Given the description of an element on the screen output the (x, y) to click on. 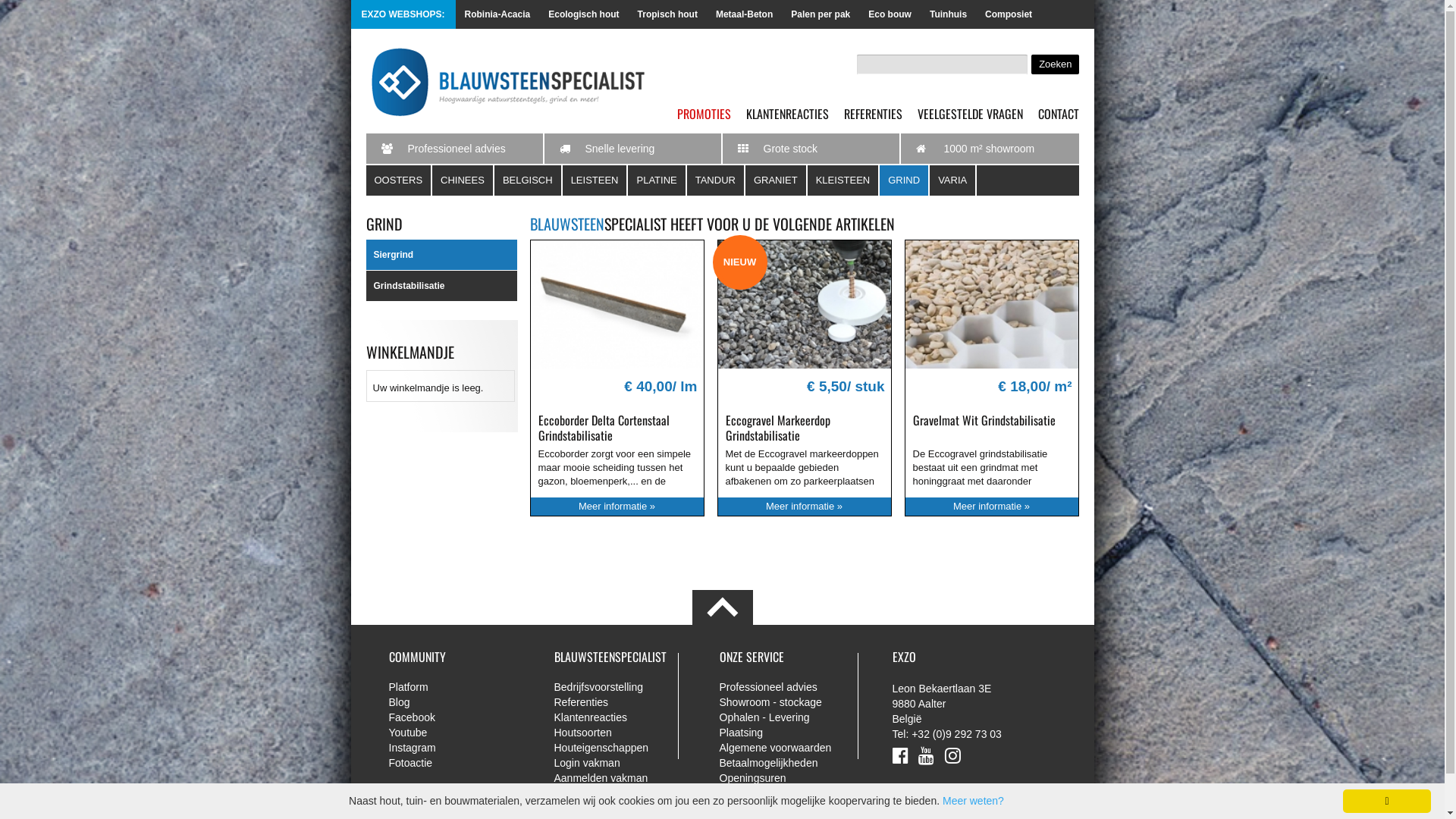
Professioneel advies Element type: text (789, 686)
Betaalmogelijkheden Element type: text (789, 762)
Tropisch hout Element type: text (667, 14)
Eccogravel Markeerdop Grindstabilisatie Element type: hover (803, 304)
KLEISTEEN Element type: text (843, 180)
BELGISCH Element type: text (528, 180)
Youtube Element type: text (459, 732)
Login vakman Element type: text (624, 762)
Eccogravel Markeerdop Grindstabilisatie Element type: text (776, 427)
Referenties Element type: text (624, 701)
Houtsoorten Element type: text (624, 732)
REFERENTIES Element type: text (872, 113)
Klantenreacties Element type: text (624, 716)
Showroom - stockage Element type: text (789, 701)
PLATINE Element type: text (656, 180)
Eco bouw Element type: text (889, 14)
facebook Element type: hover (899, 755)
Facebook Element type: text (459, 716)
Composiet Element type: text (1008, 14)
Eccoborder Delta Cortenstaal Grindstabilisatie Element type: hover (616, 304)
Metaal-Beton Element type: text (743, 14)
Siergrind Element type: text (440, 254)
Ecologisch hout Element type: text (583, 14)
Plaatsing Element type: text (789, 732)
Gravelmat Wit Grindstabilisatie Element type: hover (991, 304)
TANDUR Element type: text (716, 180)
Houteigenschappen Element type: text (624, 747)
Palen per pak Element type: text (820, 14)
Algemene voorwaarden Element type: text (789, 747)
Openingsuren Element type: text (789, 777)
GRIND Element type: text (904, 180)
instagram Element type: hover (952, 755)
GRANIET Element type: text (776, 180)
Meer weten? Element type: text (973, 800)
KLANTENREACTIES Element type: text (787, 113)
VARIA Element type: text (952, 180)
Instagram Element type: text (459, 747)
Fotoactie Element type: text (459, 762)
VEELGESTELDE VRAGEN Element type: text (969, 113)
LEISTEEN Element type: text (595, 180)
PROMOTIES Element type: text (703, 113)
youtube Element type: hover (926, 755)
Grindstabilisatie Element type: text (440, 285)
EXZO WEBSHOPS: Element type: text (1048, 14)
Ophalen - Levering Element type: text (789, 716)
CONTACT Element type: text (1057, 113)
Blog Element type: text (459, 701)
Eccoborder Delta Cortenstaal Grindstabilisatie Element type: text (603, 427)
Zoeken Element type: text (1054, 64)
CHINEES Element type: text (463, 180)
Bedrijfsvoorstelling Element type: text (624, 686)
Aanmelden vakman Element type: text (624, 777)
OOSTERS Element type: text (398, 180)
Gravelmat Wit Grindstabilisatie Element type: text (984, 420)
Robinia-Acacia Element type: text (497, 14)
Platform Element type: text (459, 686)
Tuinhuis Element type: text (947, 14)
